Given the description of an element on the screen output the (x, y) to click on. 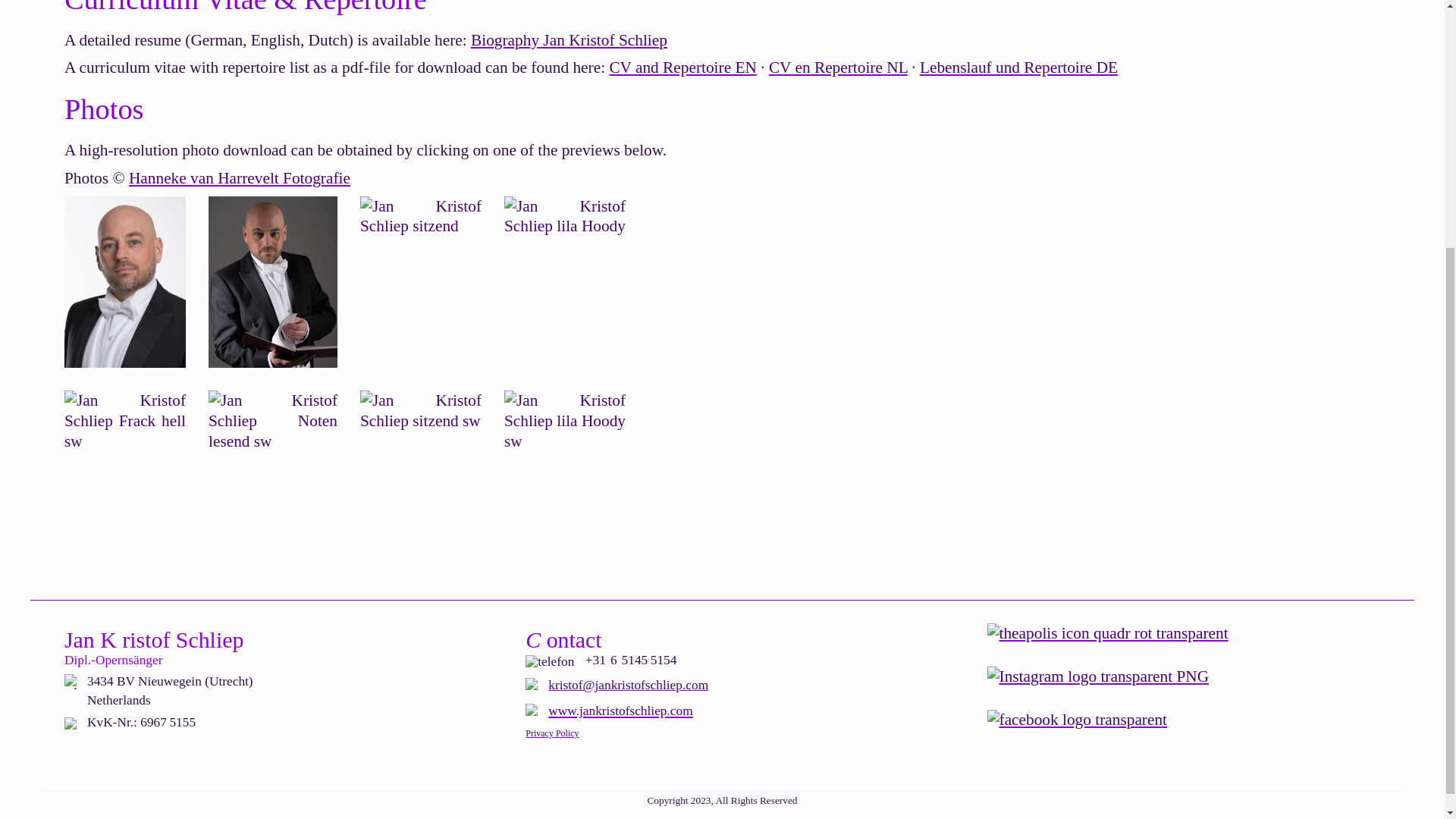
CV and Repertoire EN (681, 67)
Biography Jan Kristof Schliep (568, 40)
Lebenslauf und Repertoire DE (1019, 67)
www.jankristofschliep.com (620, 710)
Hanneke van Harrevelt Fotografie (239, 177)
CV en Repertoire NL (837, 67)
Privacy Policy (551, 733)
